Given the description of an element on the screen output the (x, y) to click on. 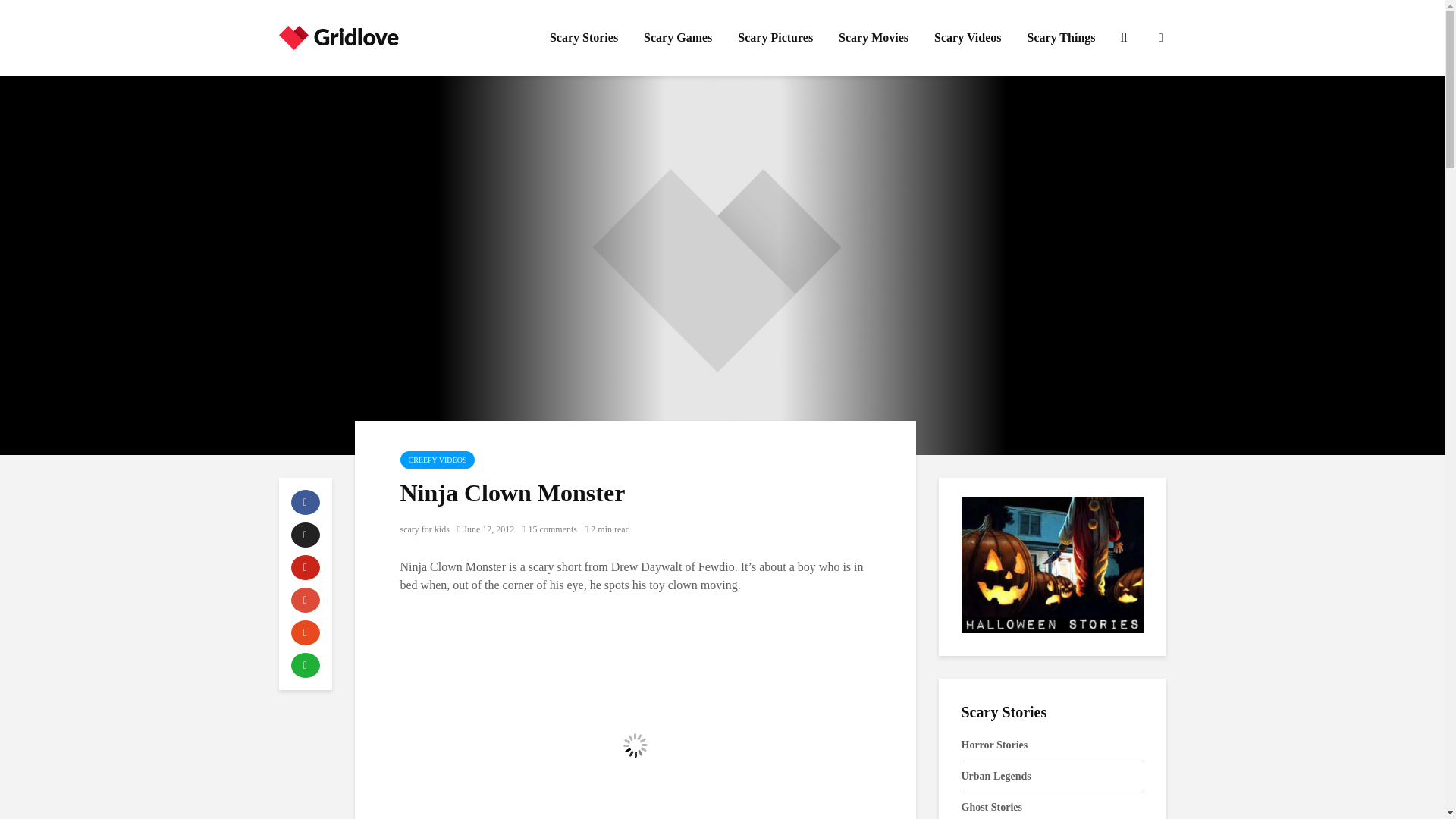
CREEPY VIDEOS (438, 459)
Scary Games (677, 37)
scary for kids (424, 529)
Scary Movies (873, 37)
Scary Videos (967, 37)
Scary Stories (583, 37)
15 comments (548, 529)
Scary Things (1061, 37)
Halloween Stories (1051, 564)
Scary Pictures (775, 37)
